Given the description of an element on the screen output the (x, y) to click on. 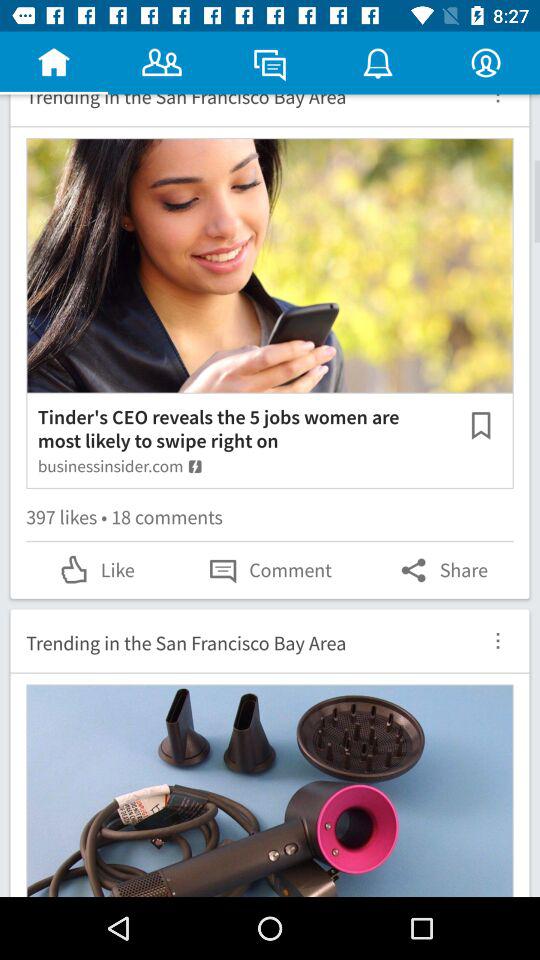
click the item next to the tinder s ceo (480, 424)
